Given the description of an element on the screen output the (x, y) to click on. 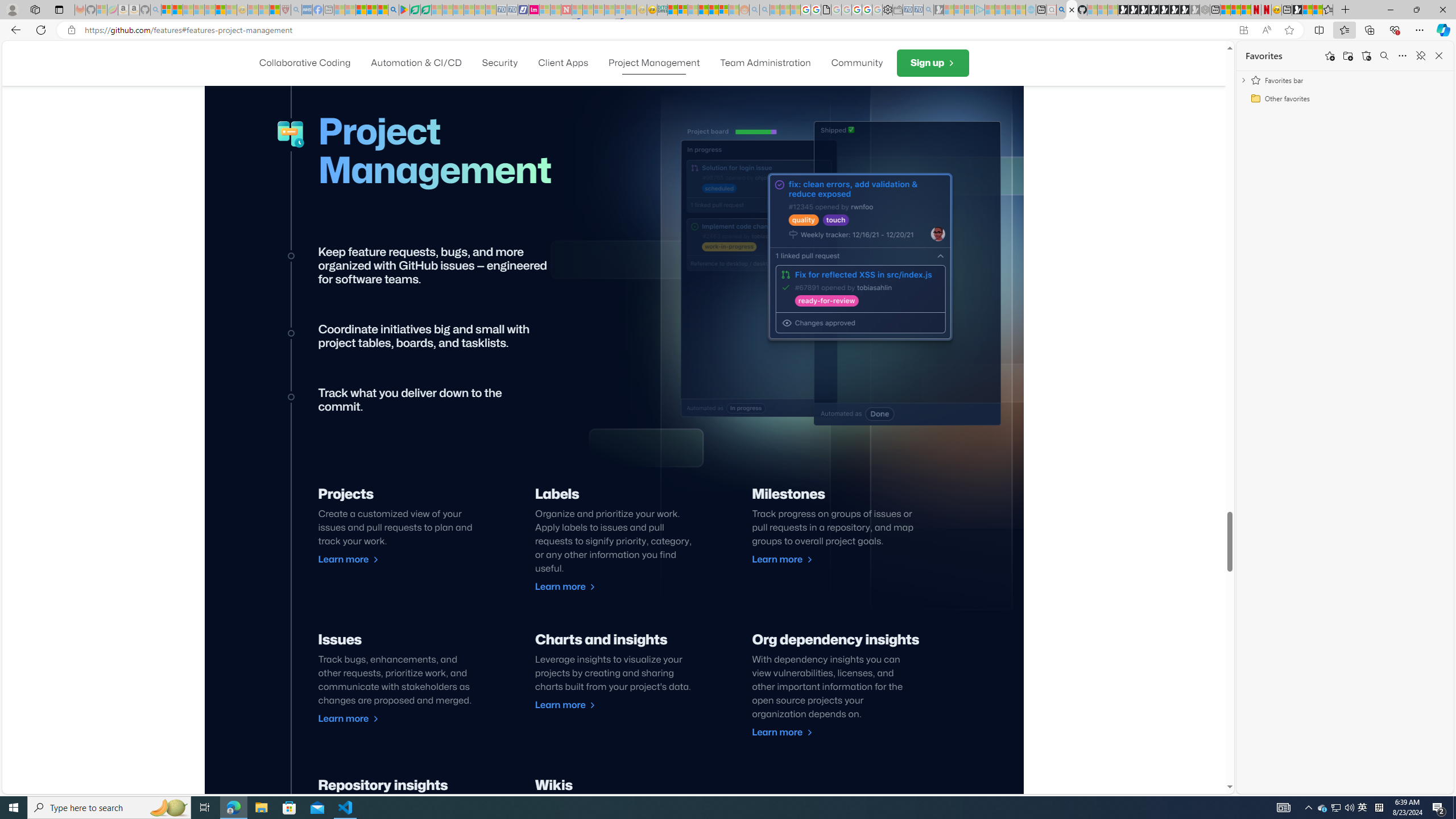
Browser essentials (1394, 29)
Microsoft Start (360, 9)
google - Search (392, 9)
NCL Adult Asthma Inhaler Choice Guideline - Sleeping (307, 9)
App available. Install GitHub (1243, 29)
Recipes - MSN - Sleeping (253, 9)
github - Search (1061, 9)
